Given the description of an element on the screen output the (x, y) to click on. 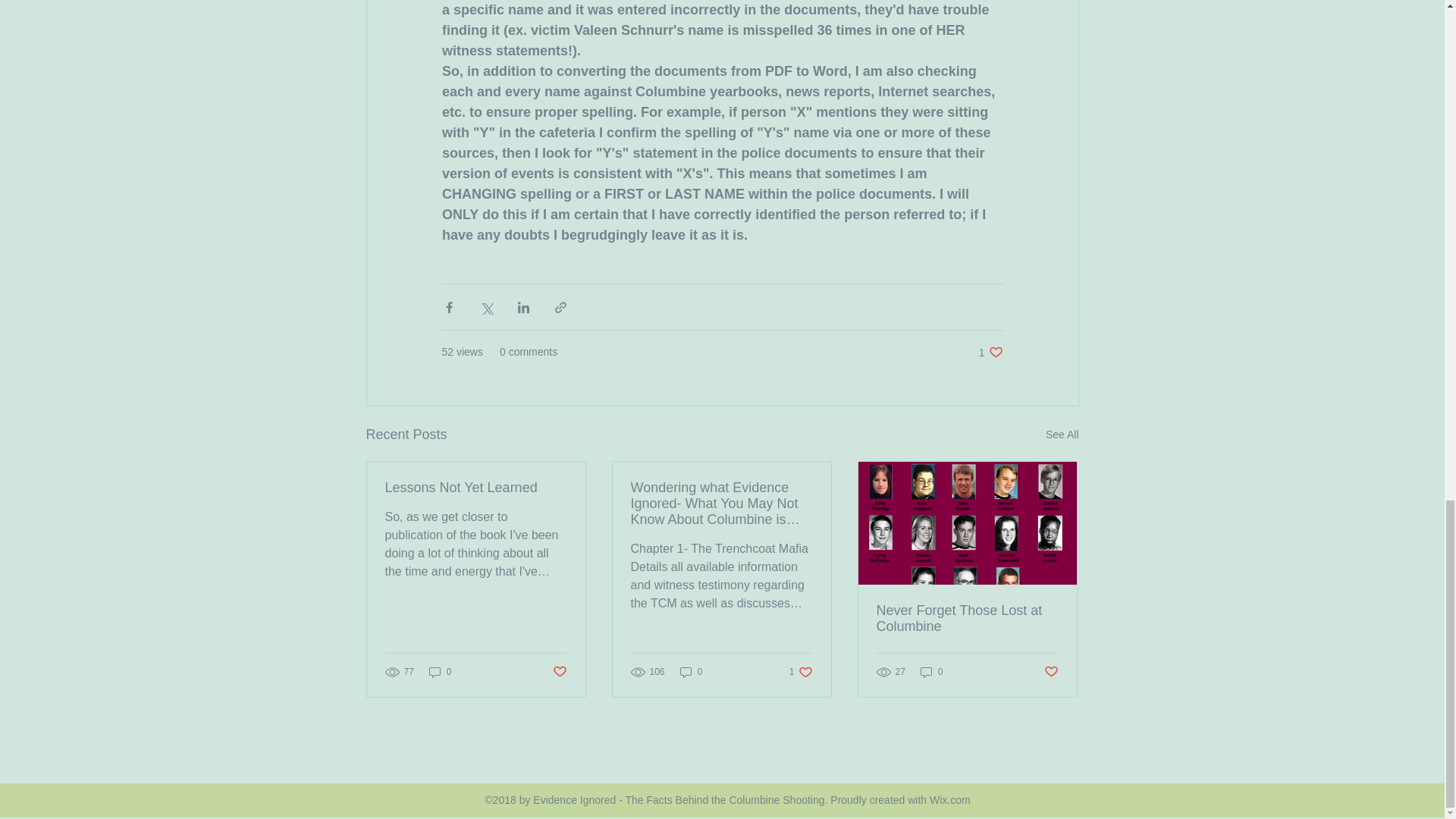
Never Forget Those Lost at Columbine (967, 618)
0 (990, 351)
See All (800, 672)
0 (440, 672)
Post not marked as liked (1061, 434)
0 (931, 672)
Lessons Not Yet Learned (1050, 672)
Post not marked as liked (691, 672)
